Given the description of an element on the screen output the (x, y) to click on. 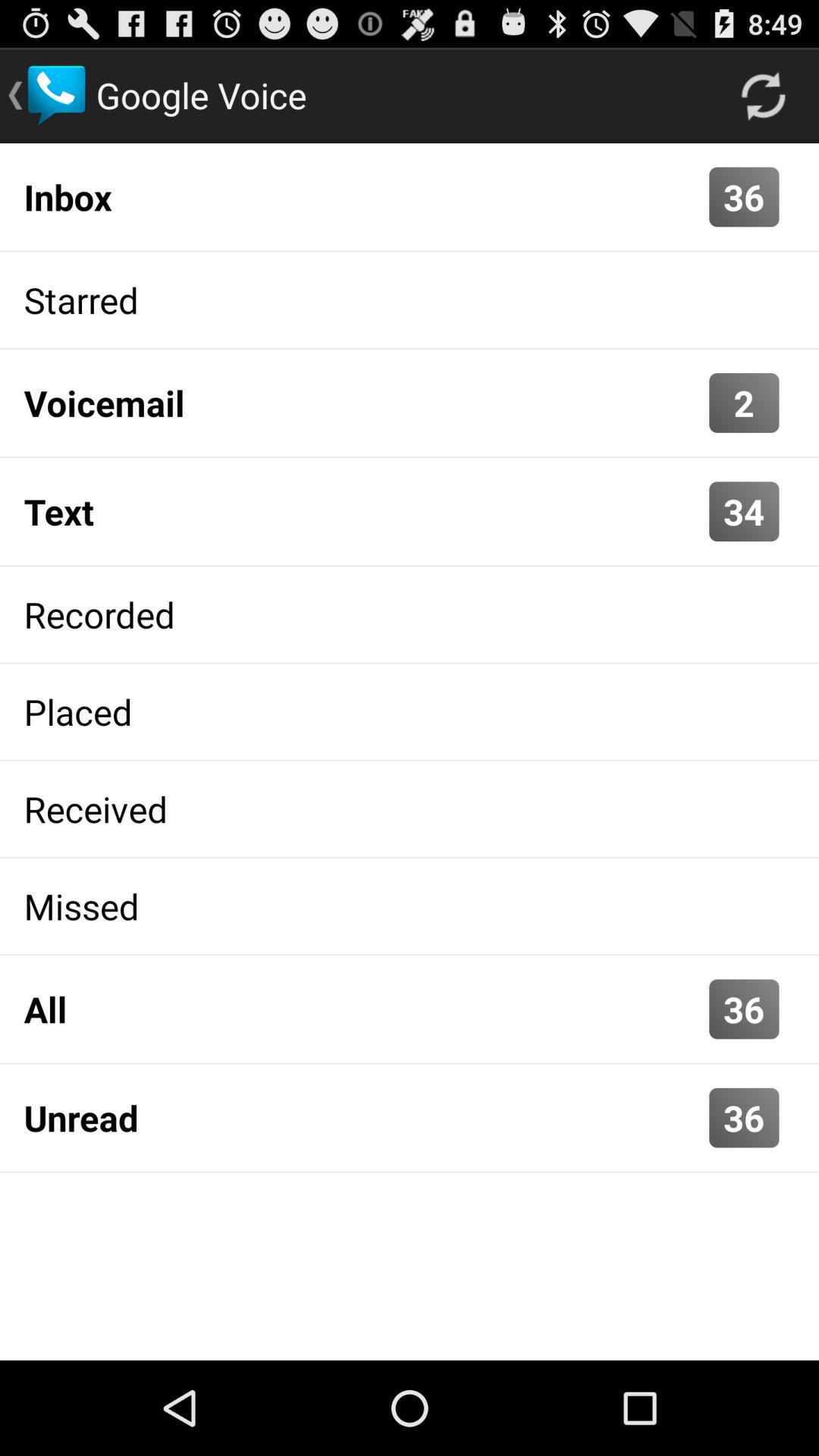
turn on the app to the left of 36 icon (362, 196)
